Given the description of an element on the screen output the (x, y) to click on. 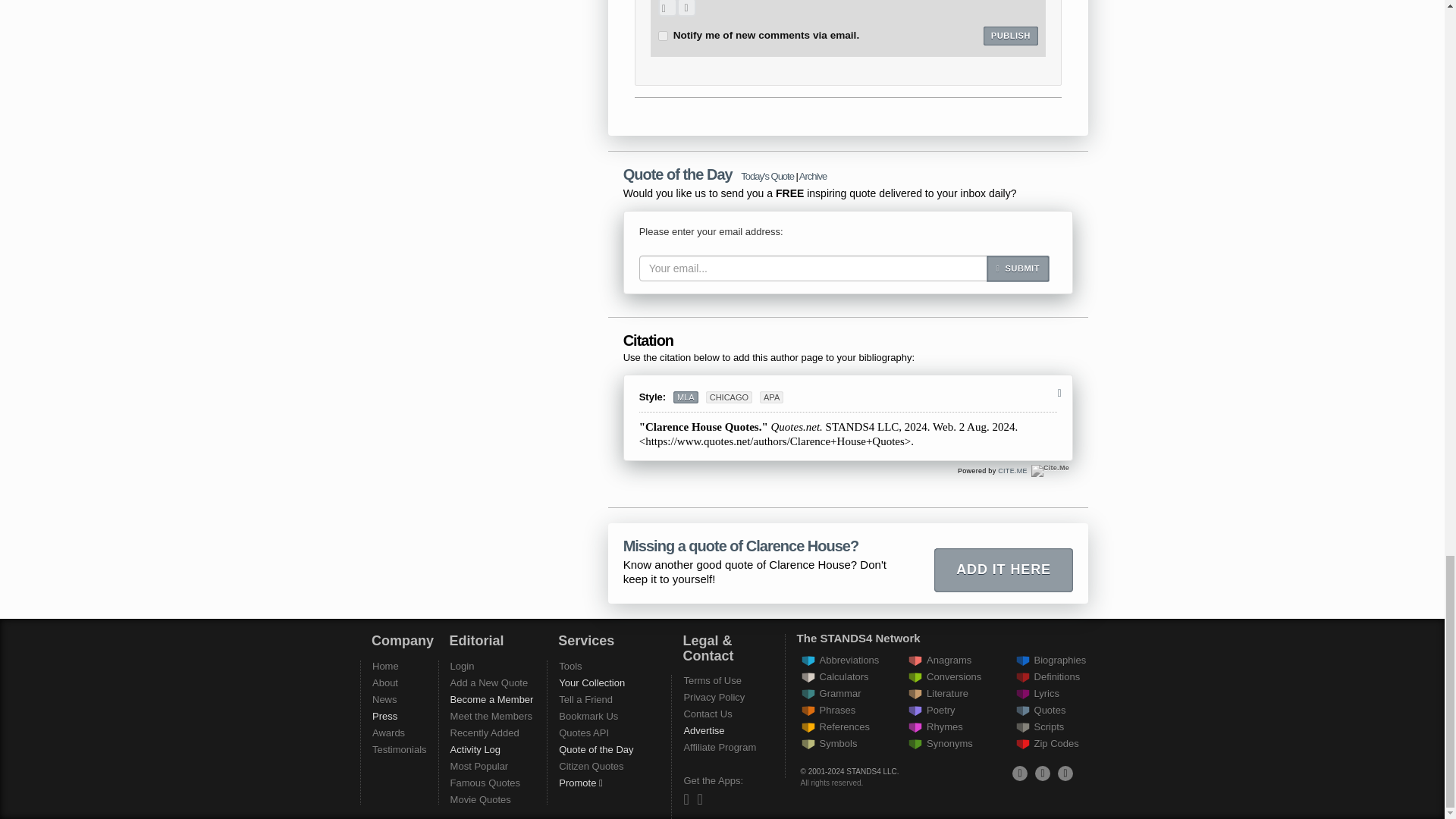
Cite.Me (1049, 470)
Record a sound (686, 8)
on (663, 35)
Cite.Me (1050, 470)
Upload an image (667, 8)
Cite.Me (1012, 470)
